Given the description of an element on the screen output the (x, y) to click on. 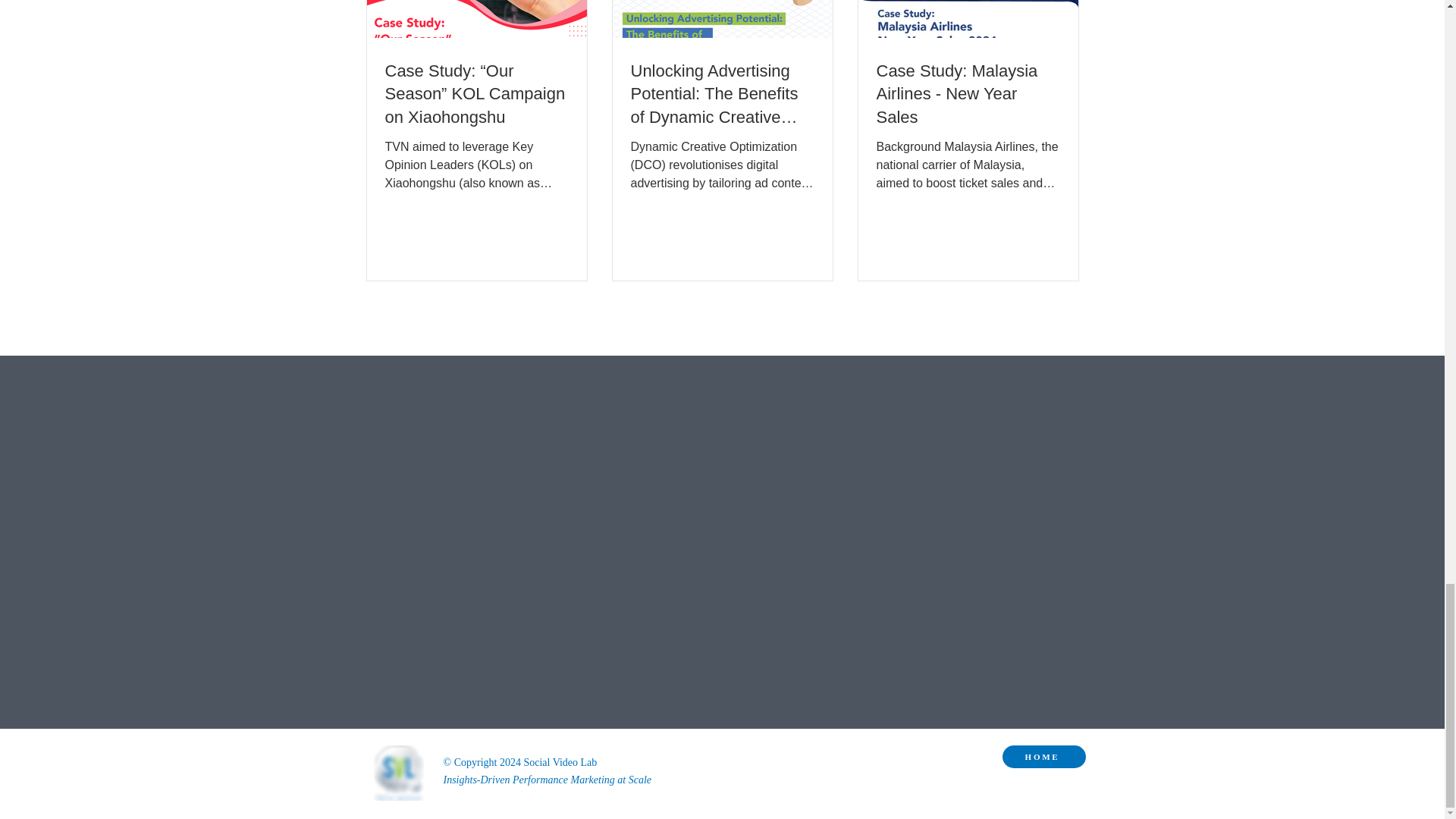
HOME (1044, 756)
Case Study: Malaysia Airlines - New Year Sales (967, 94)
Embedded Content (641, 616)
